Given the description of an element on the screen output the (x, y) to click on. 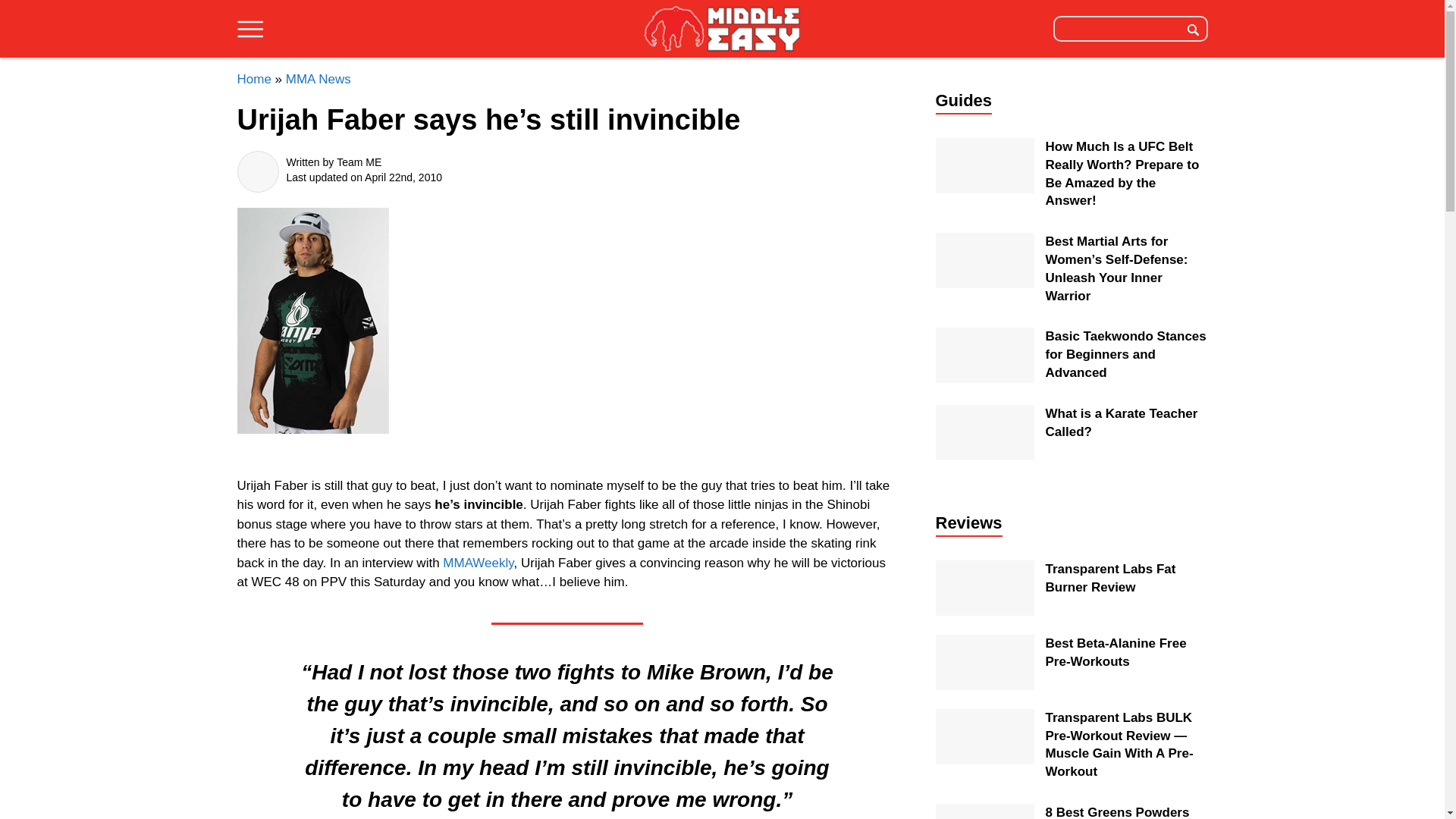
MiddleEasy (721, 28)
GO (1193, 28)
MiddleEasy (721, 29)
